Given the description of an element on the screen output the (x, y) to click on. 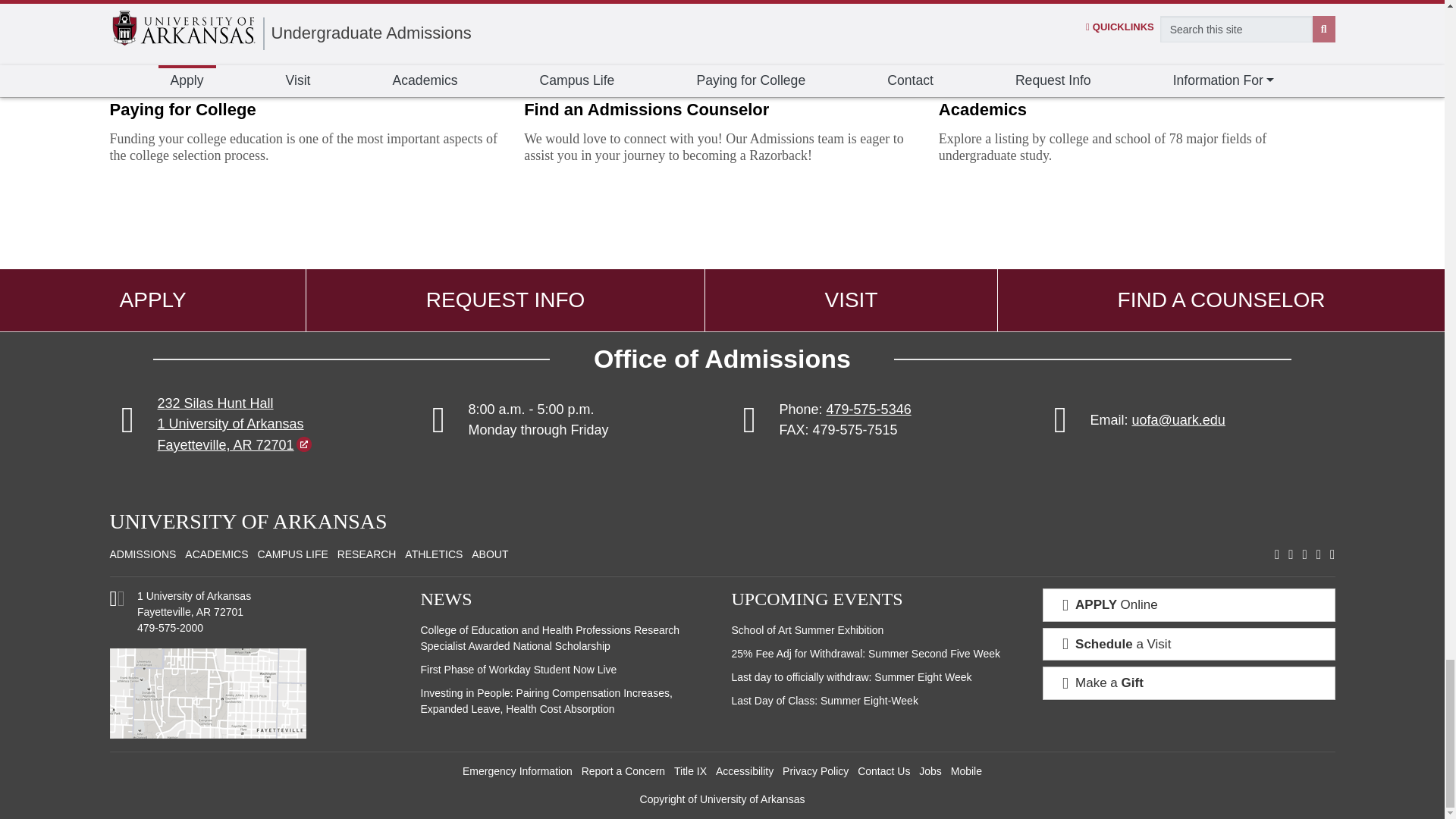
University of Arkansas Athletics (433, 553)
About the University of Arkansas (489, 553)
University of Arkansas Academics (215, 553)
University of Arkansas Research (366, 553)
View Campus Maps (116, 602)
University of Arkansas Admissions (142, 553)
Campus Life at the University of Arkansas (292, 553)
University of Arkansas Home Page (248, 521)
View Campus Maps (255, 693)
